Given the description of an element on the screen output the (x, y) to click on. 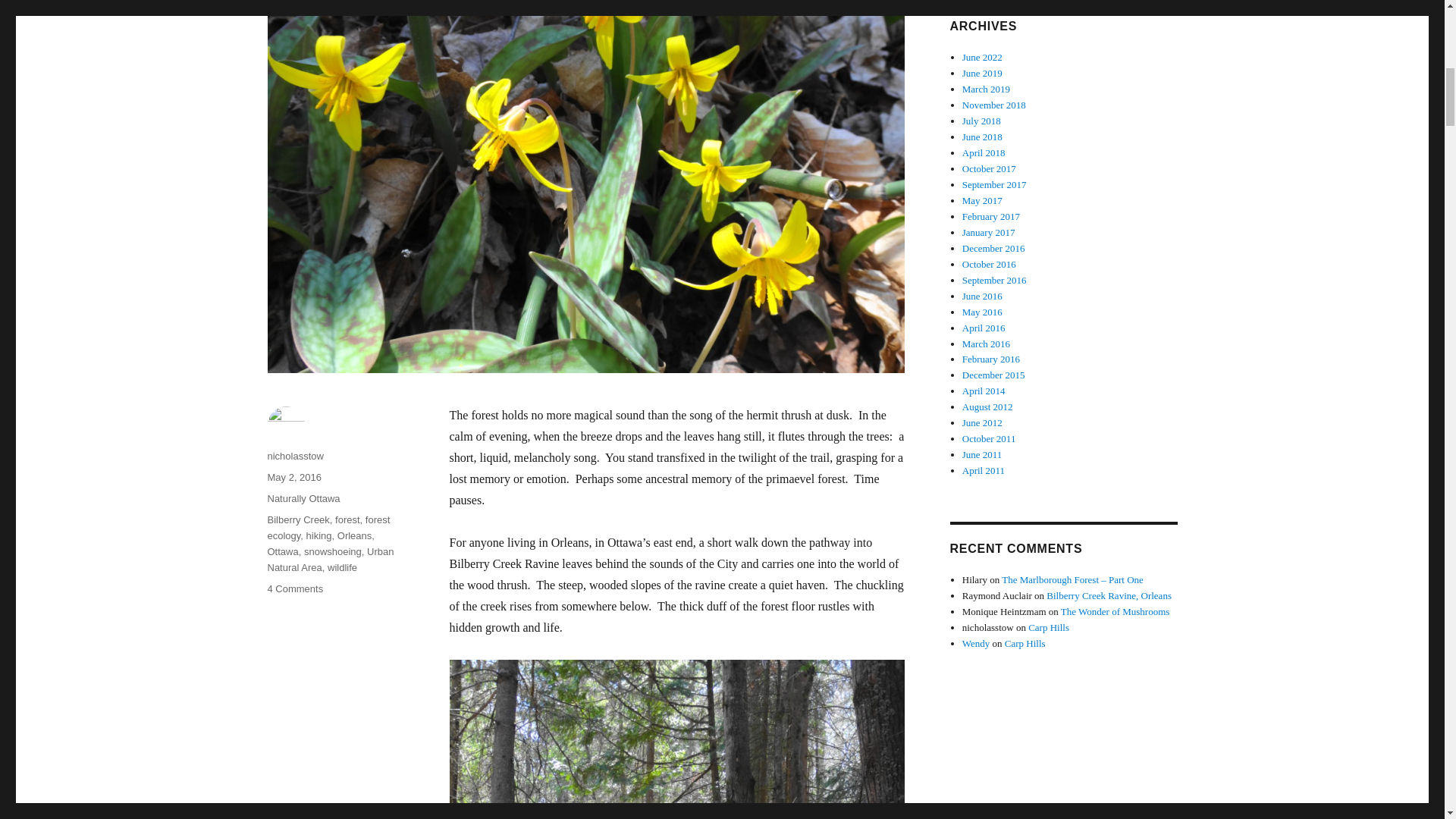
May 2, 2016 (293, 477)
forest (346, 519)
snowshoeing (332, 551)
June 2022 (982, 57)
July 2018 (981, 120)
wildlife (341, 567)
hiking (318, 535)
forest ecology (328, 527)
June 2018 (982, 136)
November 2018 (994, 104)
